Given the description of an element on the screen output the (x, y) to click on. 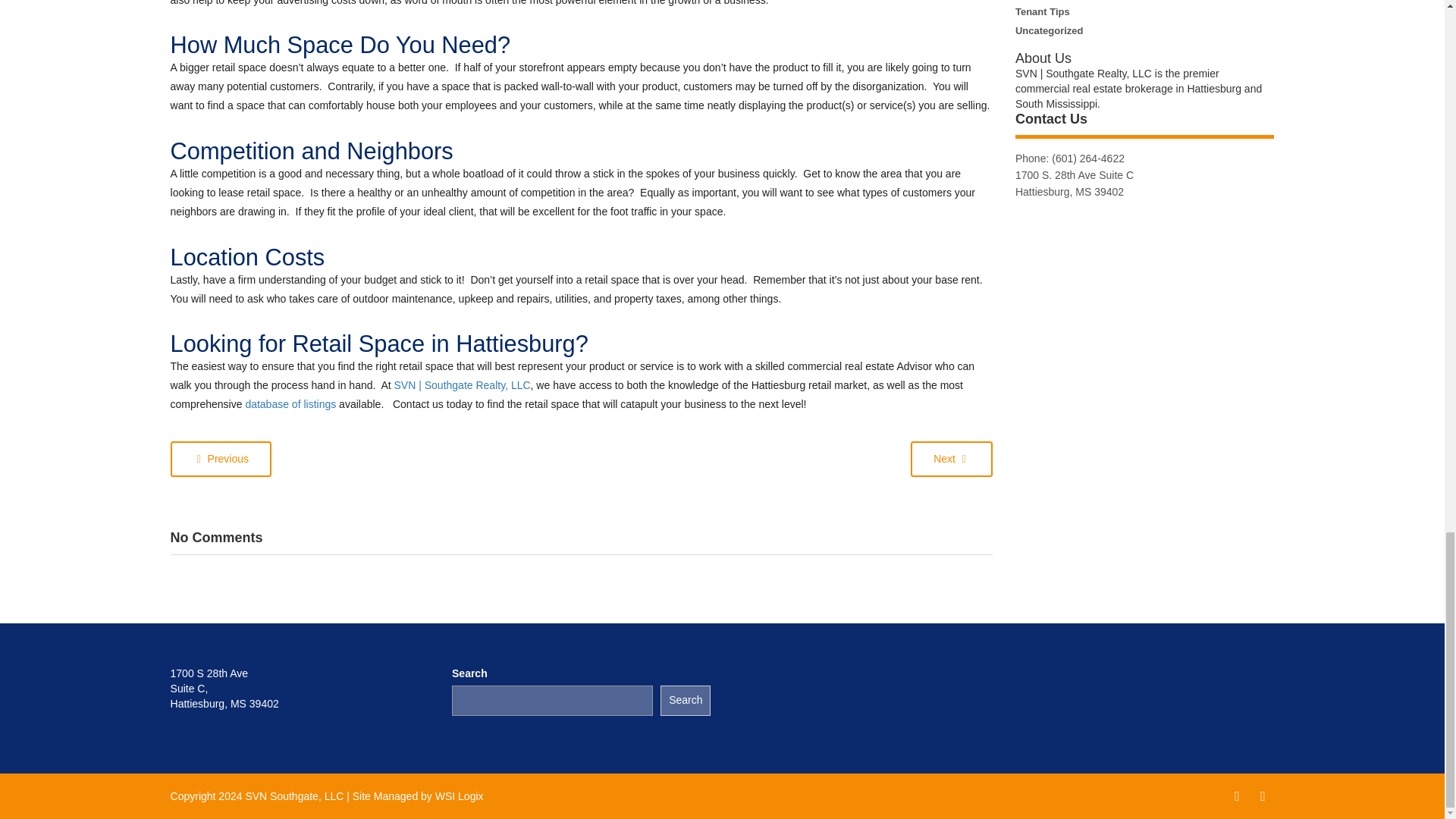
Previous (220, 458)
database of listings (290, 404)
Next (951, 458)
